Given the description of an element on the screen output the (x, y) to click on. 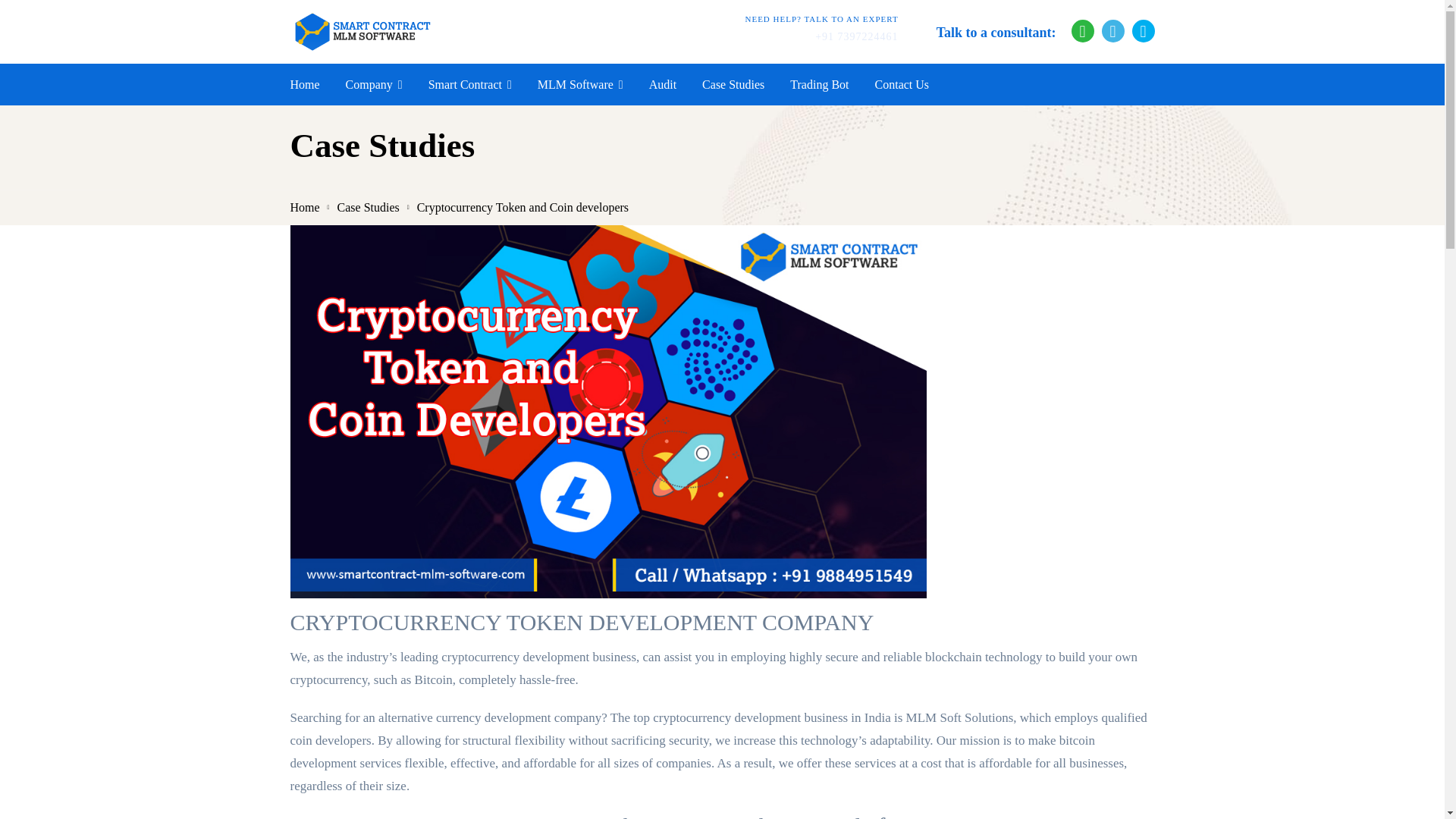
Contact Us (902, 84)
Home (303, 206)
Case Studies (732, 84)
Smart Contract (470, 84)
Case Studies (367, 206)
MLM Software (580, 84)
Company (374, 84)
Trading Bot (819, 84)
